Given the description of an element on the screen output the (x, y) to click on. 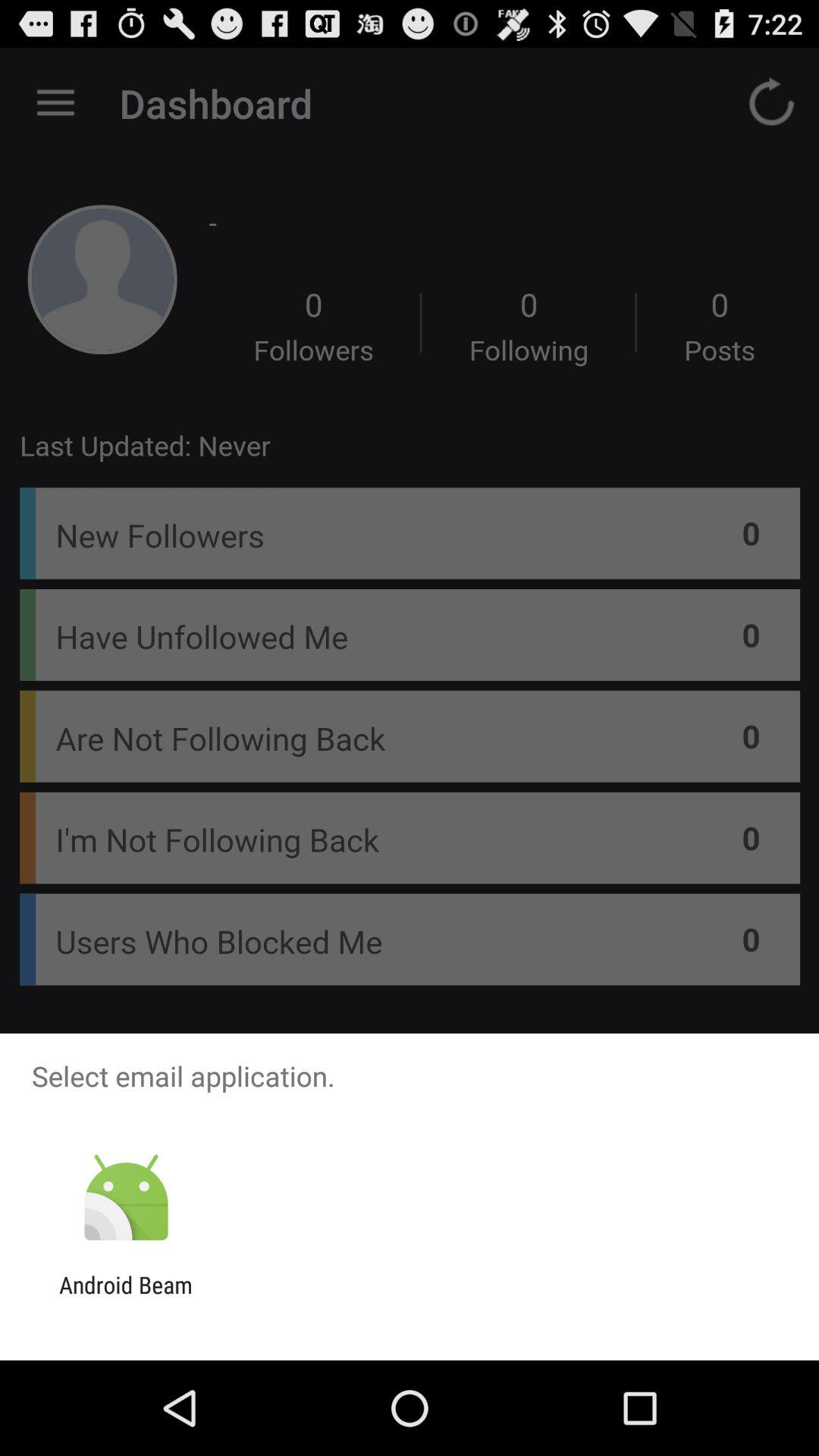
press the item below select email application. (126, 1198)
